Given the description of an element on the screen output the (x, y) to click on. 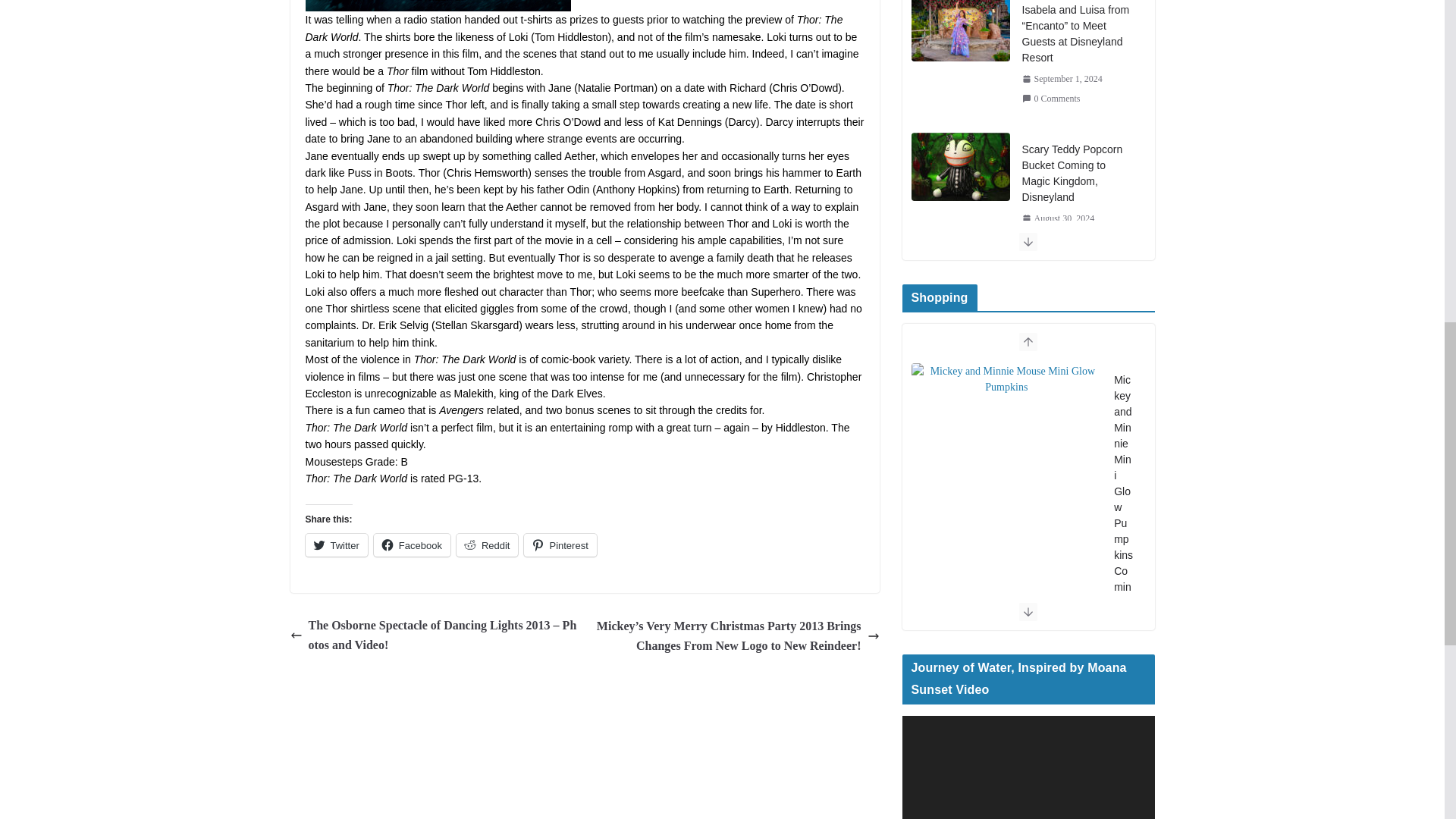
Click to share on Twitter (335, 544)
Click to share on Pinterest (559, 544)
Click to share on Facebook (411, 544)
11:42 am (1062, 78)
Click to share on Reddit (487, 544)
